Given the description of an element on the screen output the (x, y) to click on. 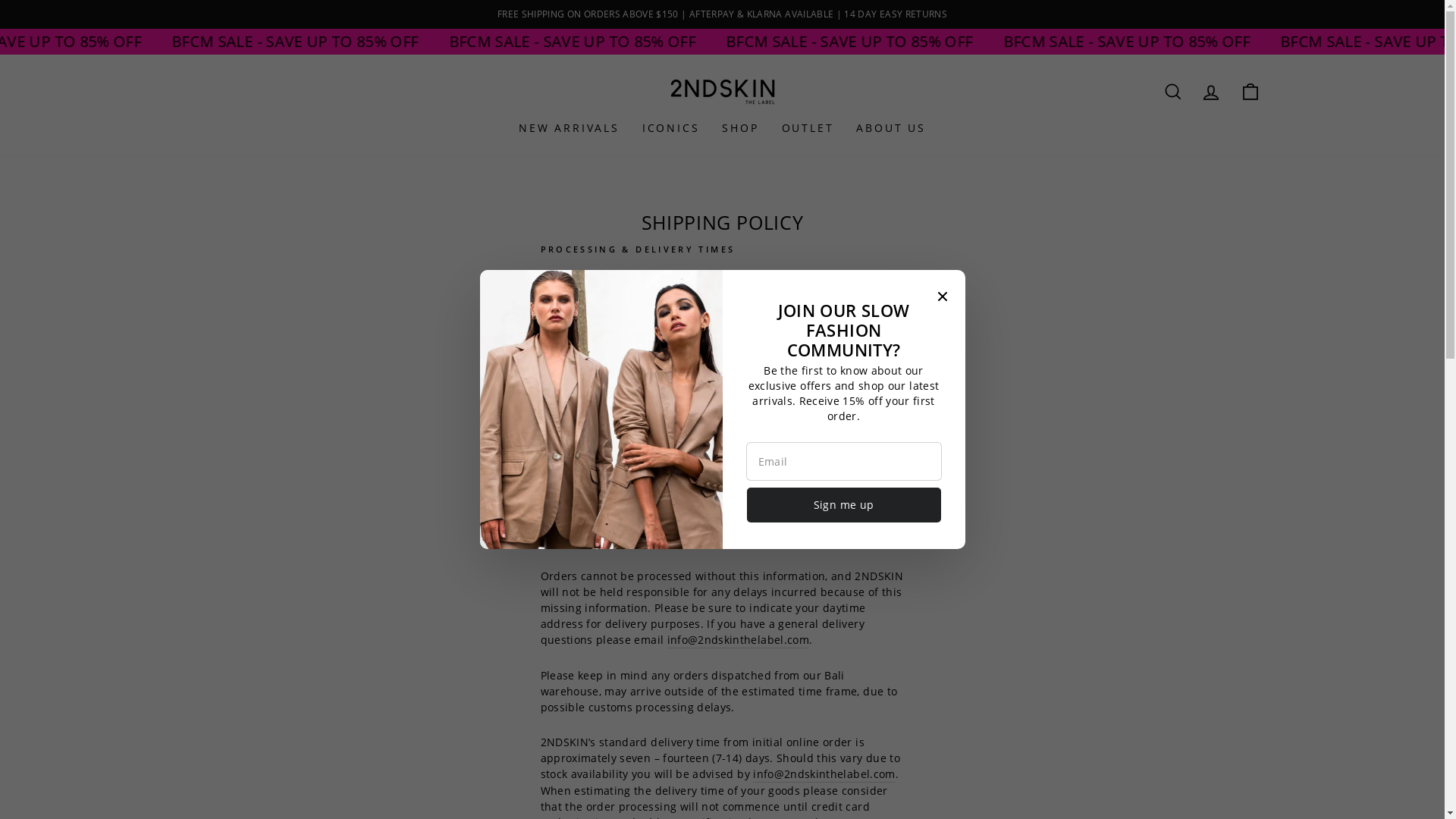
ICONICS Element type: text (670, 127)
LOG IN Element type: text (1210, 91)
NEW ARRIVALS Element type: text (568, 127)
info@2ndskinthelabel.com Element type: text (738, 639)
CART Element type: text (1249, 91)
SEARCH Element type: text (1172, 91)
ABOUT US Element type: text (890, 127)
SHOP Element type: text (739, 127)
info@2ndskinthelabel.com Element type: text (823, 773)
OUTLET Element type: text (807, 127)
